Given the description of an element on the screen output the (x, y) to click on. 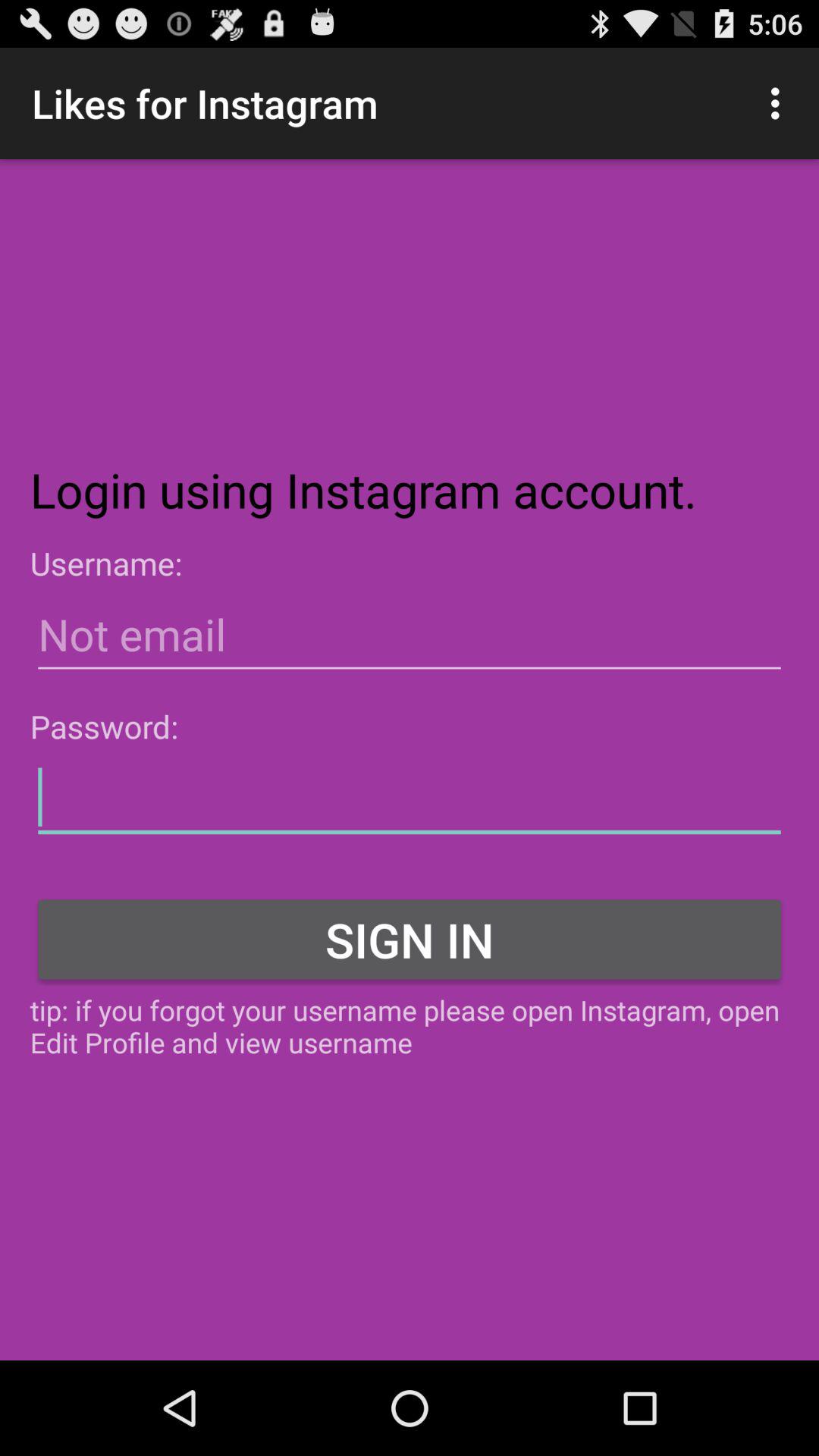
turn off the app to the right of the likes for instagram icon (779, 103)
